Given the description of an element on the screen output the (x, y) to click on. 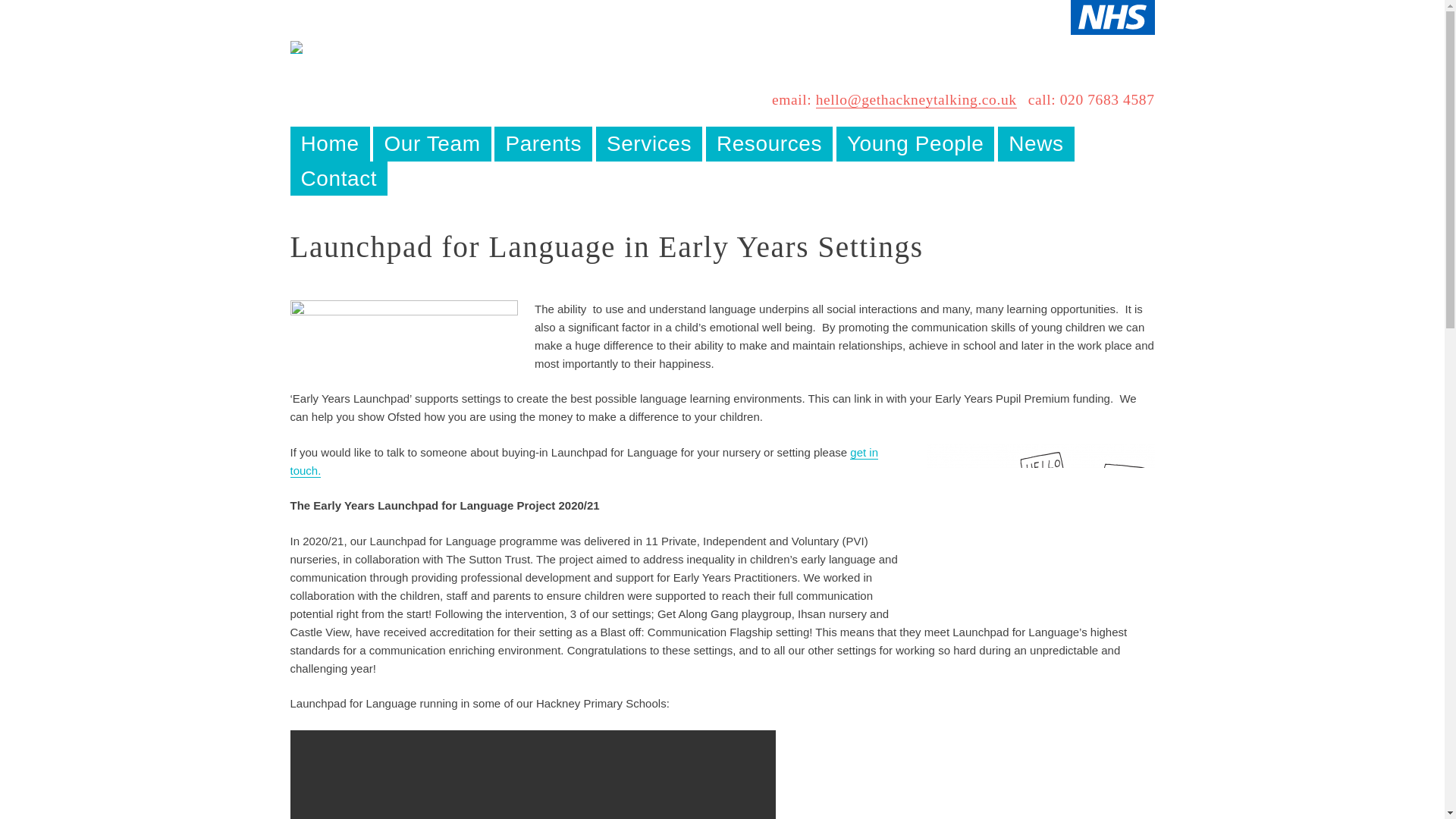
Home (328, 143)
Parents (542, 143)
Resources (769, 143)
News (1035, 143)
Services (649, 143)
Young People (915, 143)
Contact (338, 178)
Our Team (432, 143)
get in touch. (583, 461)
